Given the description of an element on the screen output the (x, y) to click on. 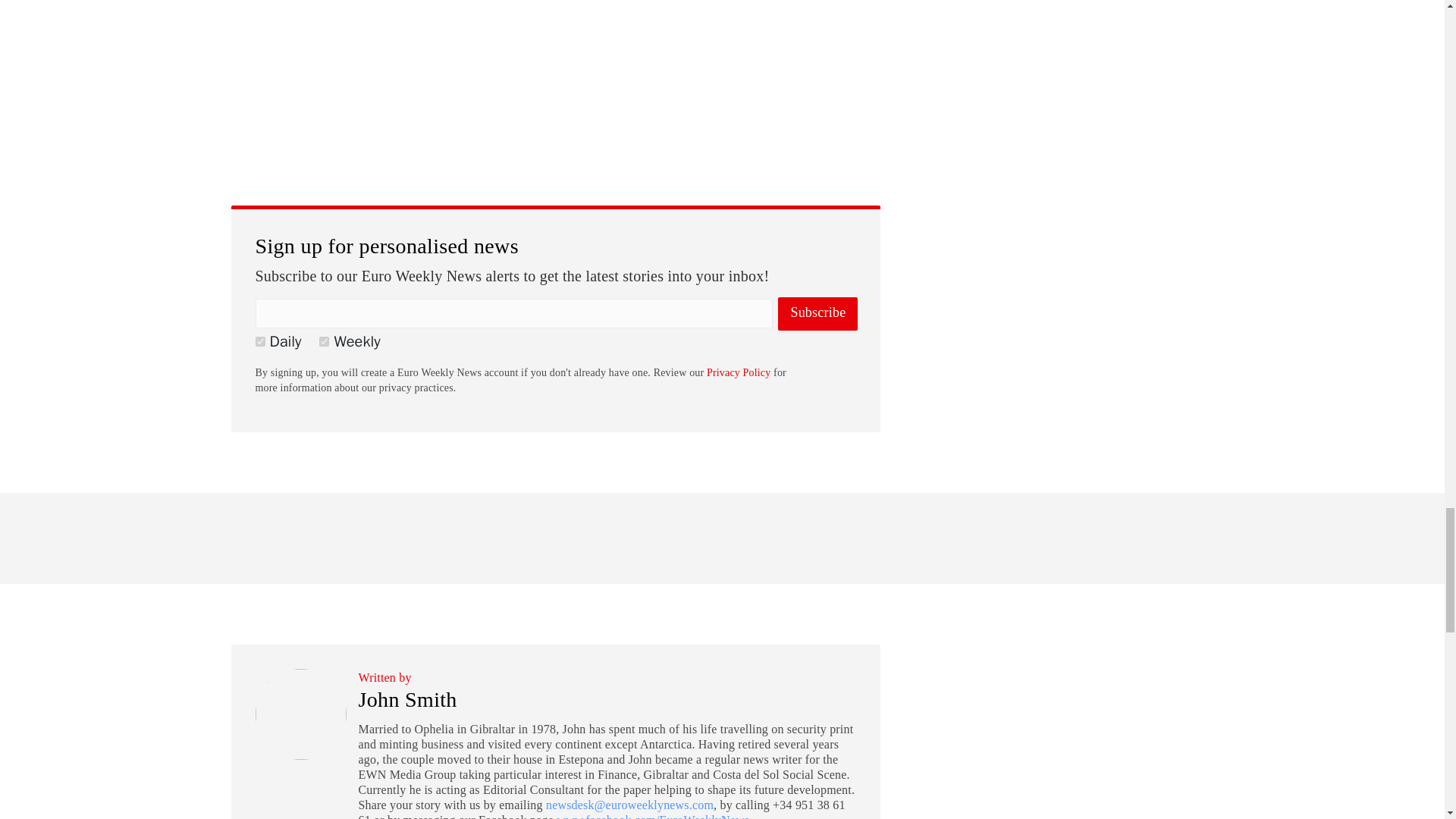
7 (323, 341)
6 (259, 341)
Subscribe (817, 313)
